Given the description of an element on the screen output the (x, y) to click on. 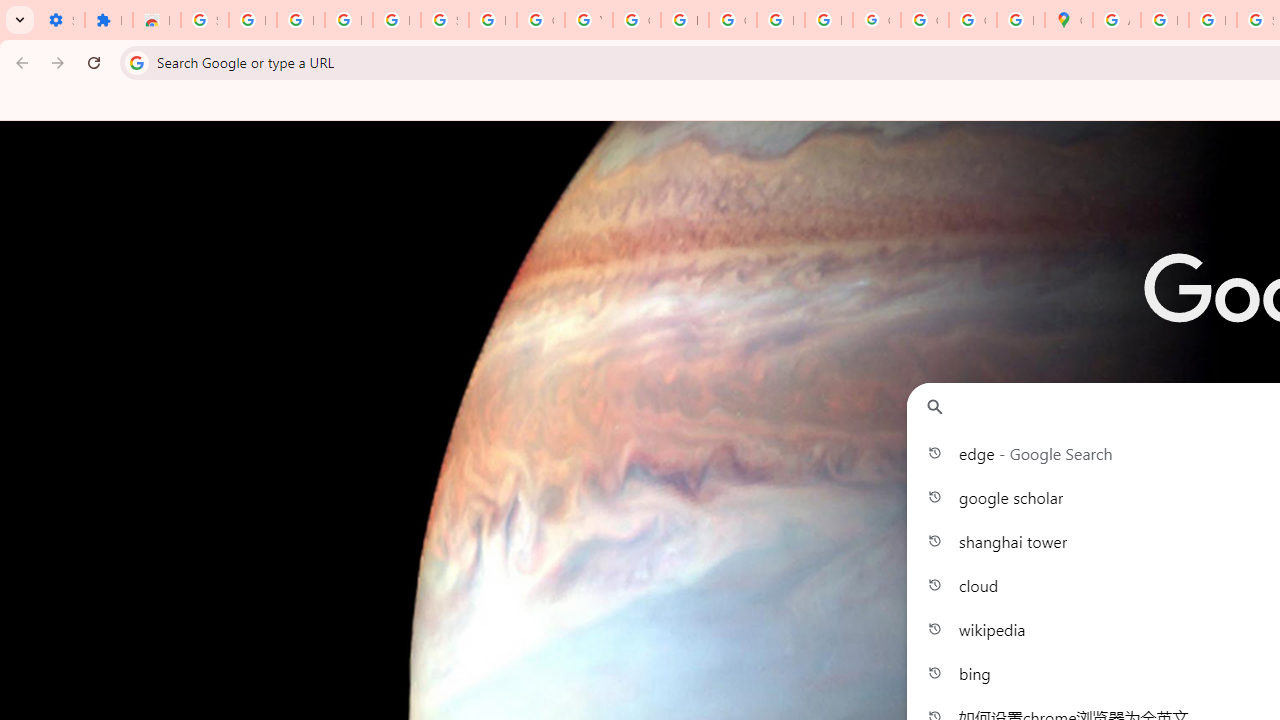
YouTube (588, 20)
Learn how to find your photos - Google Photos Help (348, 20)
